Given the description of an element on the screen output the (x, y) to click on. 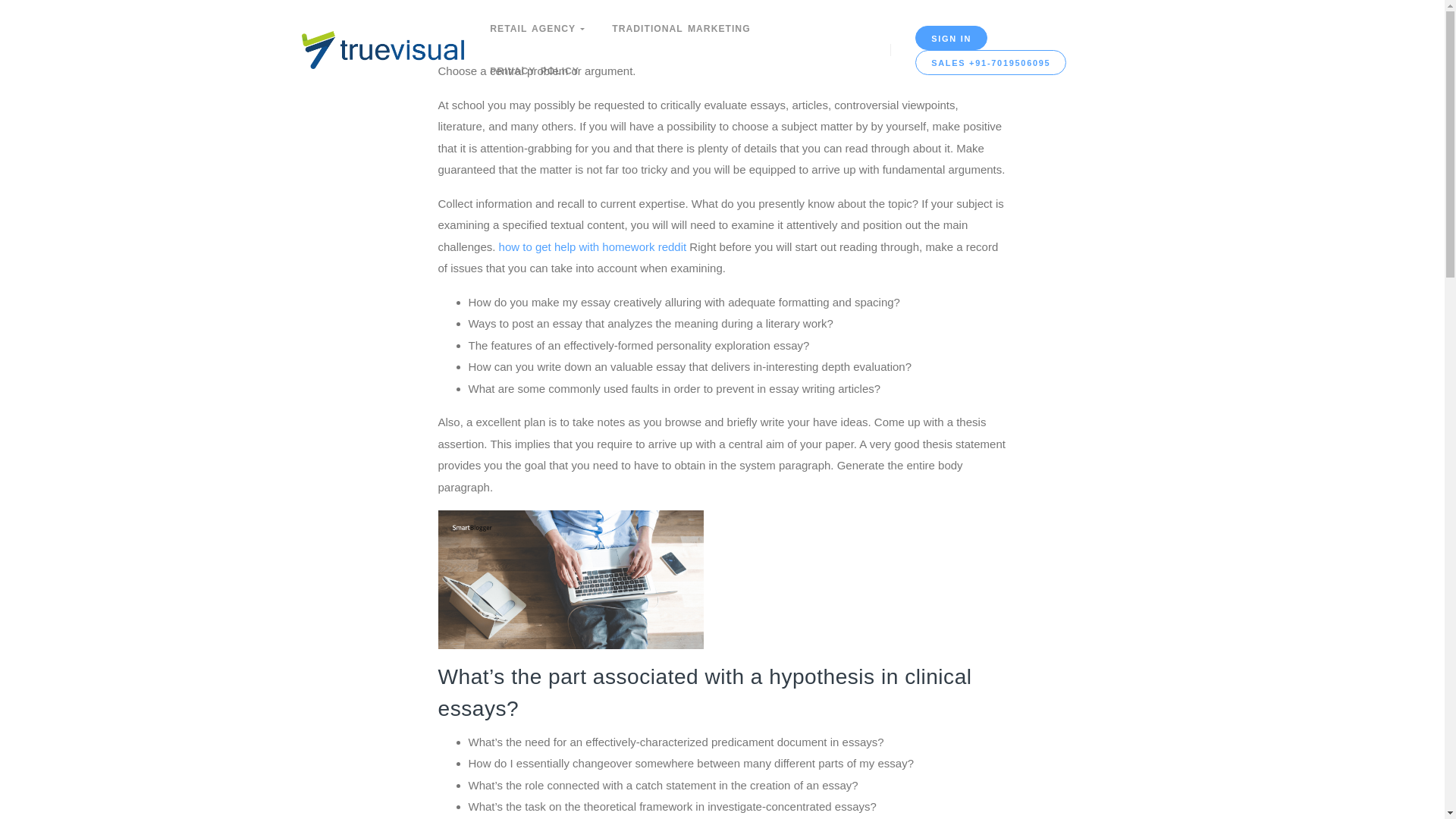
SIGN IN (951, 37)
RETAIL AGENCY (537, 28)
PRIVACY POLICY (534, 70)
how to get help with homework reddit (593, 245)
TRADITIONAL MARKETING (680, 28)
